Given the description of an element on the screen output the (x, y) to click on. 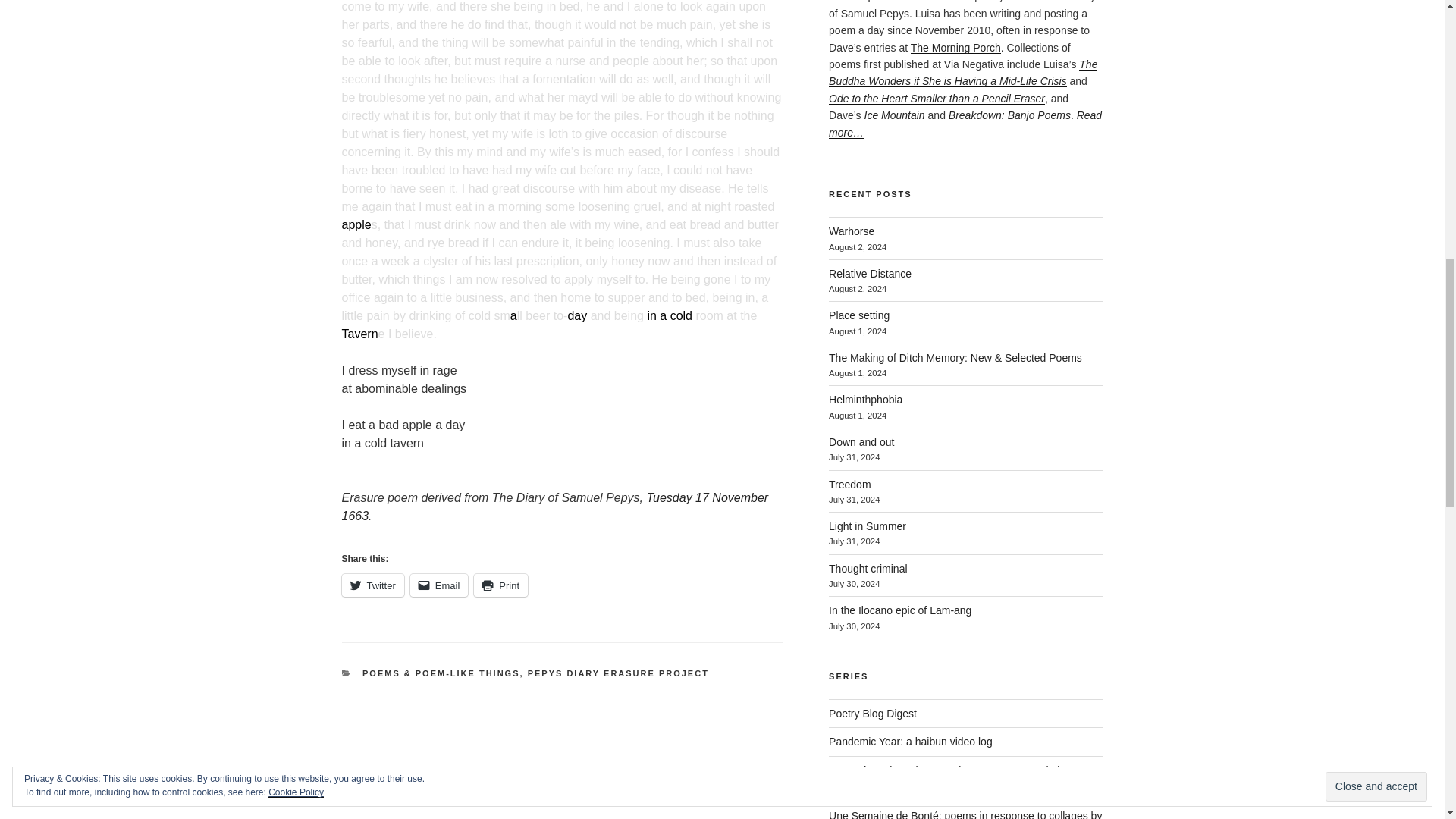
Click to share on Twitter (371, 585)
A weekly round-up of links to poetry bloggers (872, 713)
Print (500, 585)
Twitter (371, 585)
The Morning Porch (956, 47)
Ode to the Heart Smaller than a Pencil Eraser (936, 98)
PEPYS DIARY ERASURE PROJECT (618, 673)
new translations of poetry from Latin America (949, 778)
Haibun videopoems in response to the COVID-19 pandemic (910, 741)
Click to email a link to a friend (439, 585)
erasure poems (863, 1)
The Buddha Wonders if She is Having a Mid-Life Crisis (962, 72)
Email (439, 585)
Tuesday 17 November 1663 (554, 506)
